Given the description of an element on the screen output the (x, y) to click on. 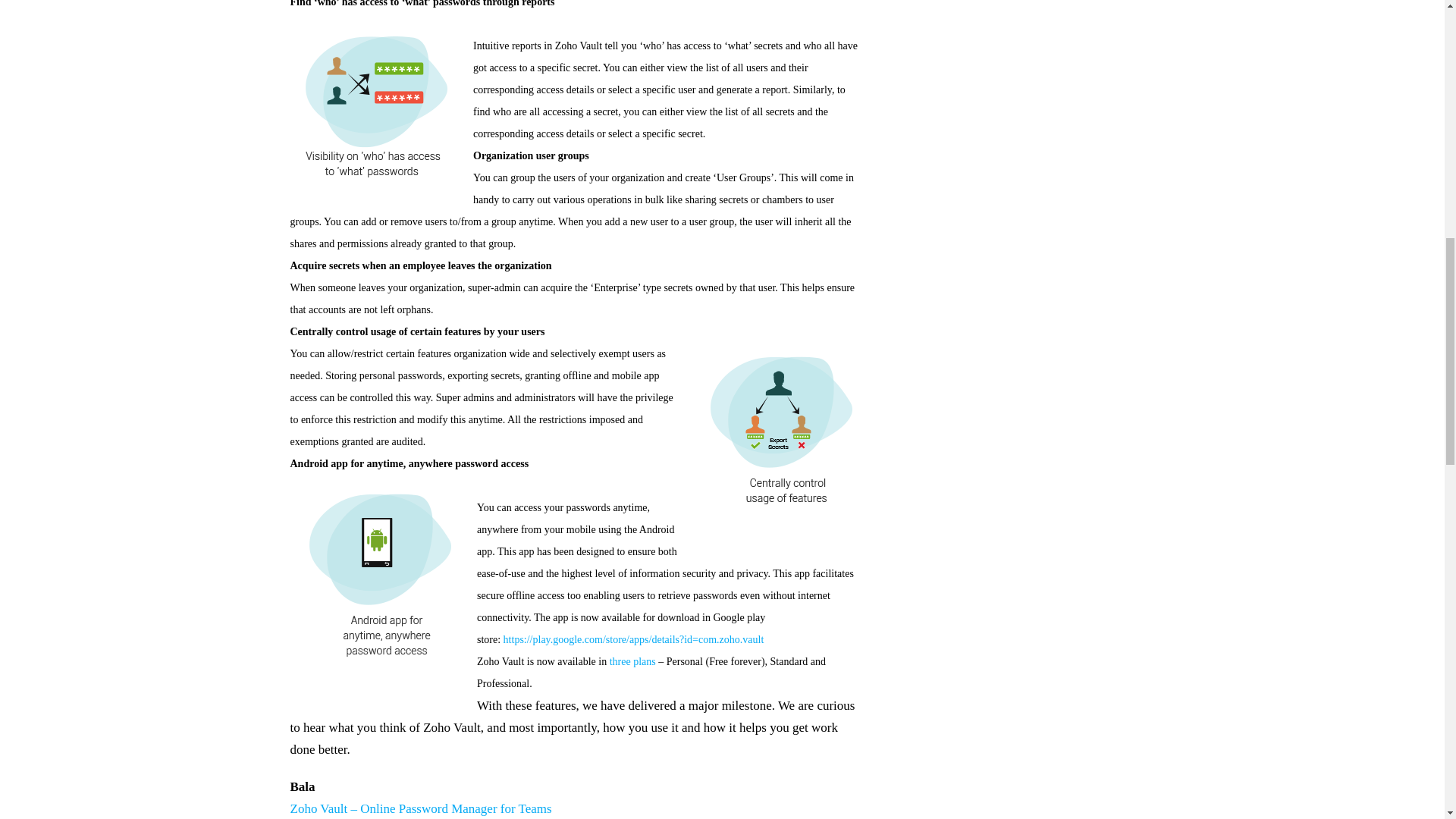
three plans (633, 661)
